Given the description of an element on the screen output the (x, y) to click on. 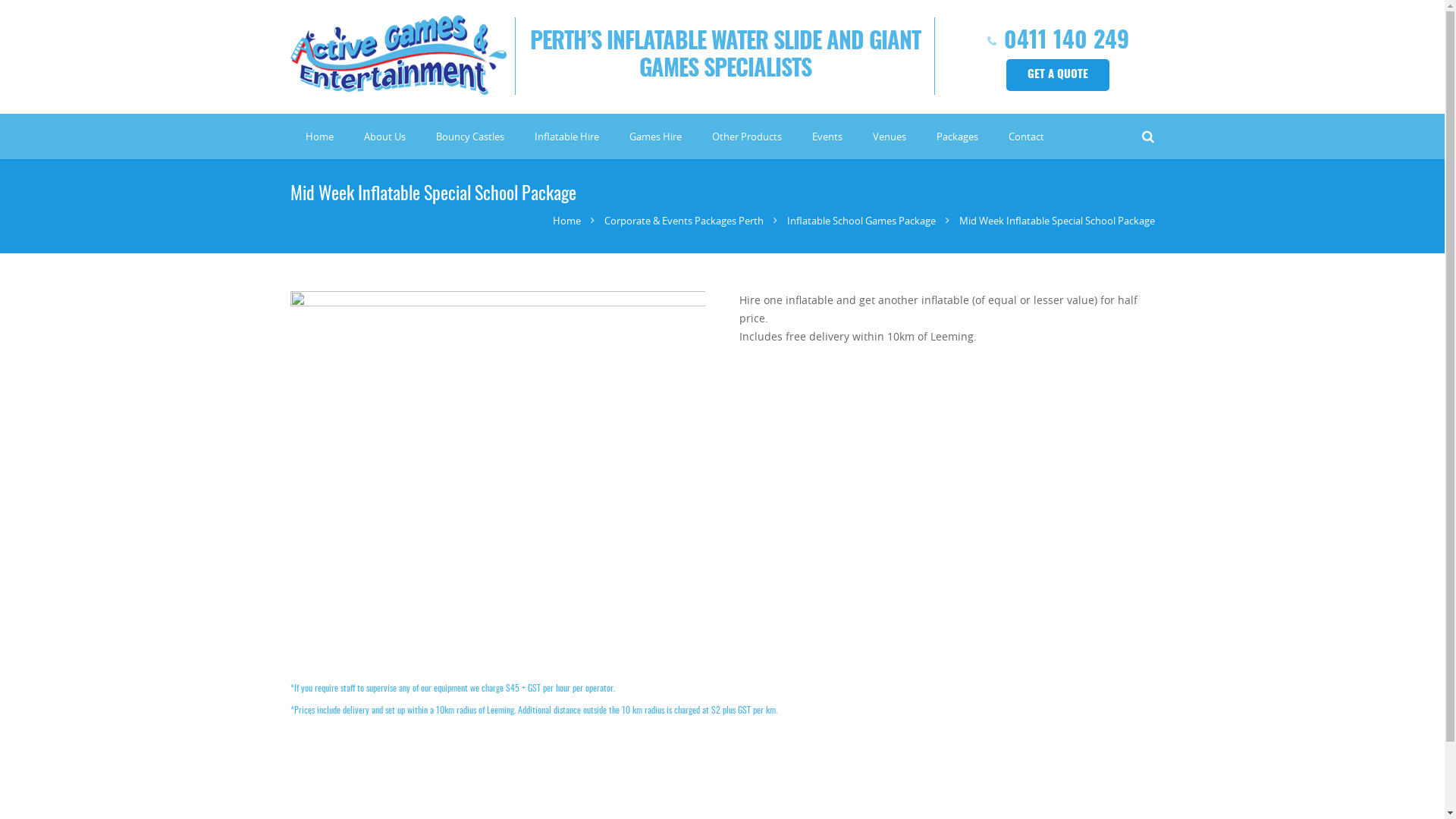
Corporate & Events Packages Perth Element type: text (682, 220)
Venues Element type: text (888, 136)
About Us Element type: text (384, 136)
Contact Element type: text (1026, 136)
Events Element type: text (826, 136)
Games Hire Element type: text (655, 136)
Home Element type: text (566, 220)
Other Products Element type: text (746, 136)
Inflatable Hire Element type: text (565, 136)
Packages Element type: text (956, 136)
GET A QUOTE Element type: text (1057, 75)
Inflatable School Games Package Element type: text (861, 220)
Home Element type: text (318, 136)
Bouncy Castles Element type: text (469, 136)
0411 140 249 Element type: text (1066, 41)
